Given the description of an element on the screen output the (x, y) to click on. 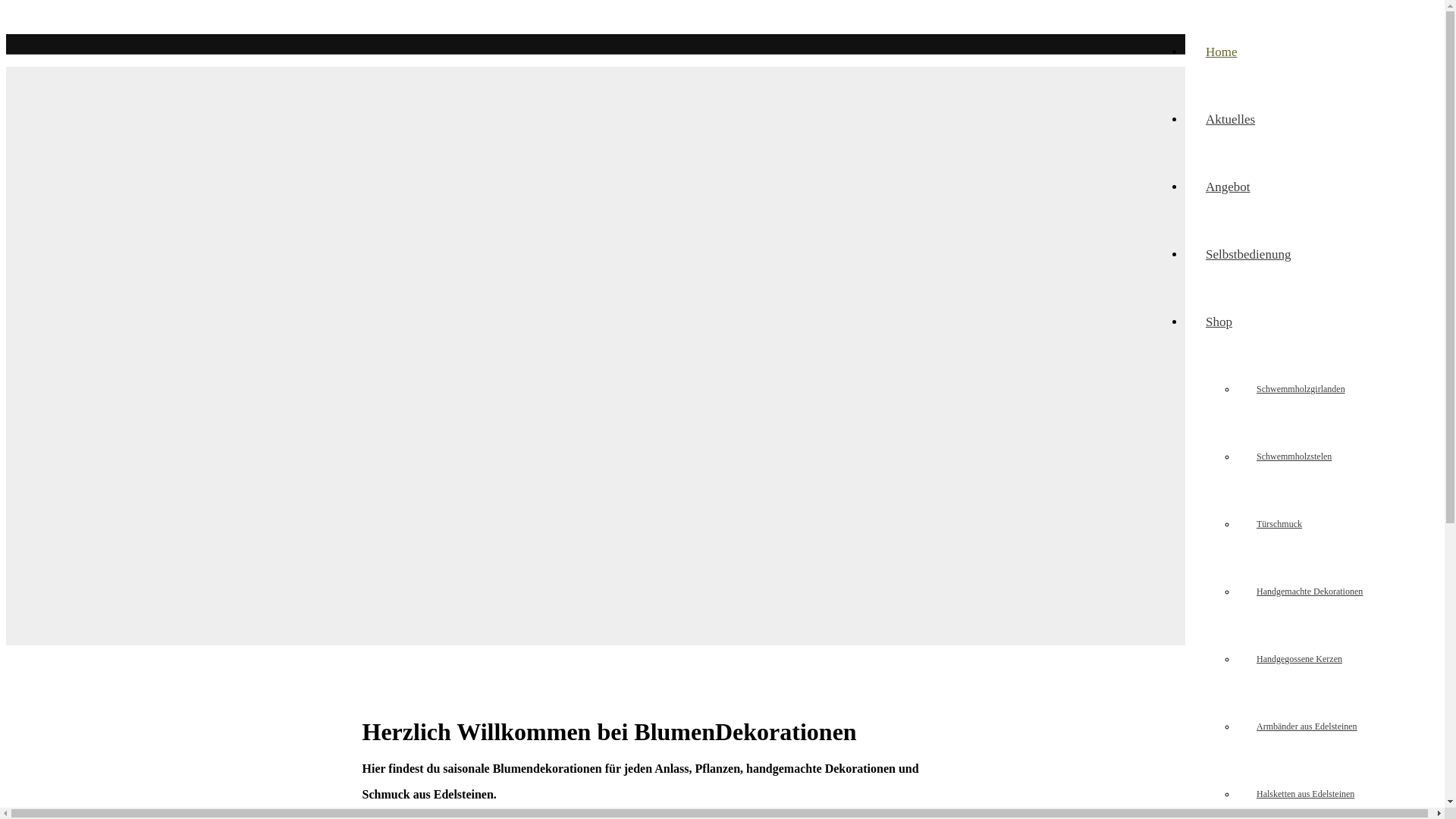
Shop Element type: text (1218, 321)
Angebot Element type: text (1227, 186)
Home Element type: text (1221, 51)
Handgegossene Kerzen Element type: text (1299, 658)
Halsketten aus Edelsteinen Element type: text (1305, 793)
Aktuelles Element type: text (1230, 119)
Schwemmholzstelen Element type: text (1293, 456)
Selbstbedienung Element type: text (1247, 254)
Schwemmholzgirlanden Element type: text (1300, 388)
Handgemachte Dekorationen Element type: text (1309, 591)
